Given the description of an element on the screen output the (x, y) to click on. 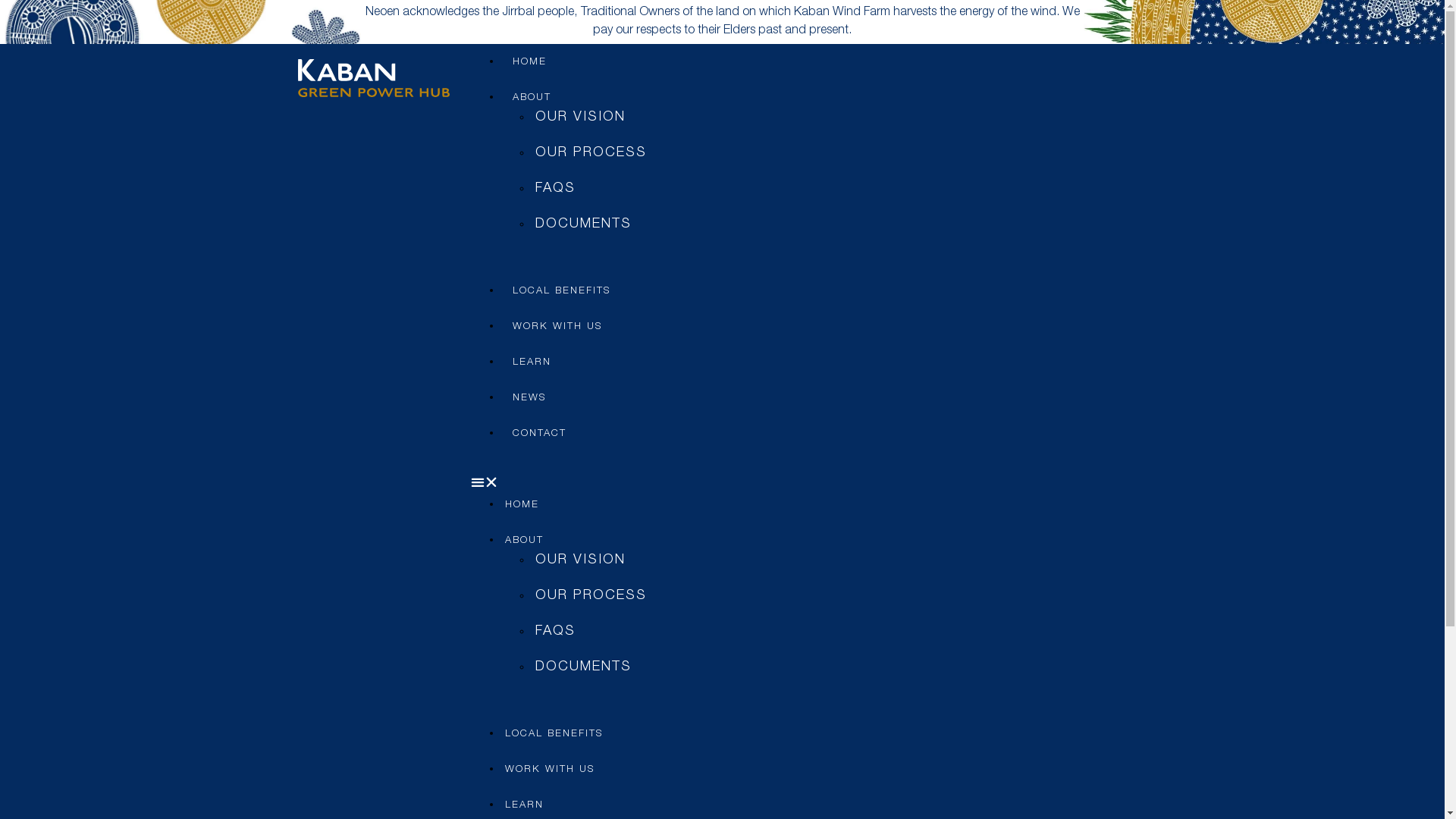
OUR PROCESS Element type: text (589, 595)
HOME Element type: text (528, 62)
LOCAL BENEFITS Element type: text (560, 291)
LOCAL BENEFITS Element type: text (552, 734)
ABOUT Element type: text (530, 98)
FAQS Element type: text (554, 631)
LEARN Element type: text (523, 805)
ABOUT Element type: text (523, 541)
CONTACT Element type: text (538, 434)
OUR VISION Element type: text (579, 560)
DOCUMENTS Element type: text (582, 667)
LEARN Element type: text (530, 362)
OUR VISION Element type: text (579, 117)
OUR PROCESS Element type: text (589, 153)
DOCUMENTS Element type: text (582, 224)
WORK WITH US Element type: text (556, 327)
FAQS Element type: text (554, 188)
NEWS Element type: text (528, 398)
HOME Element type: text (521, 505)
WORK WITH US Element type: text (548, 770)
